Given the description of an element on the screen output the (x, y) to click on. 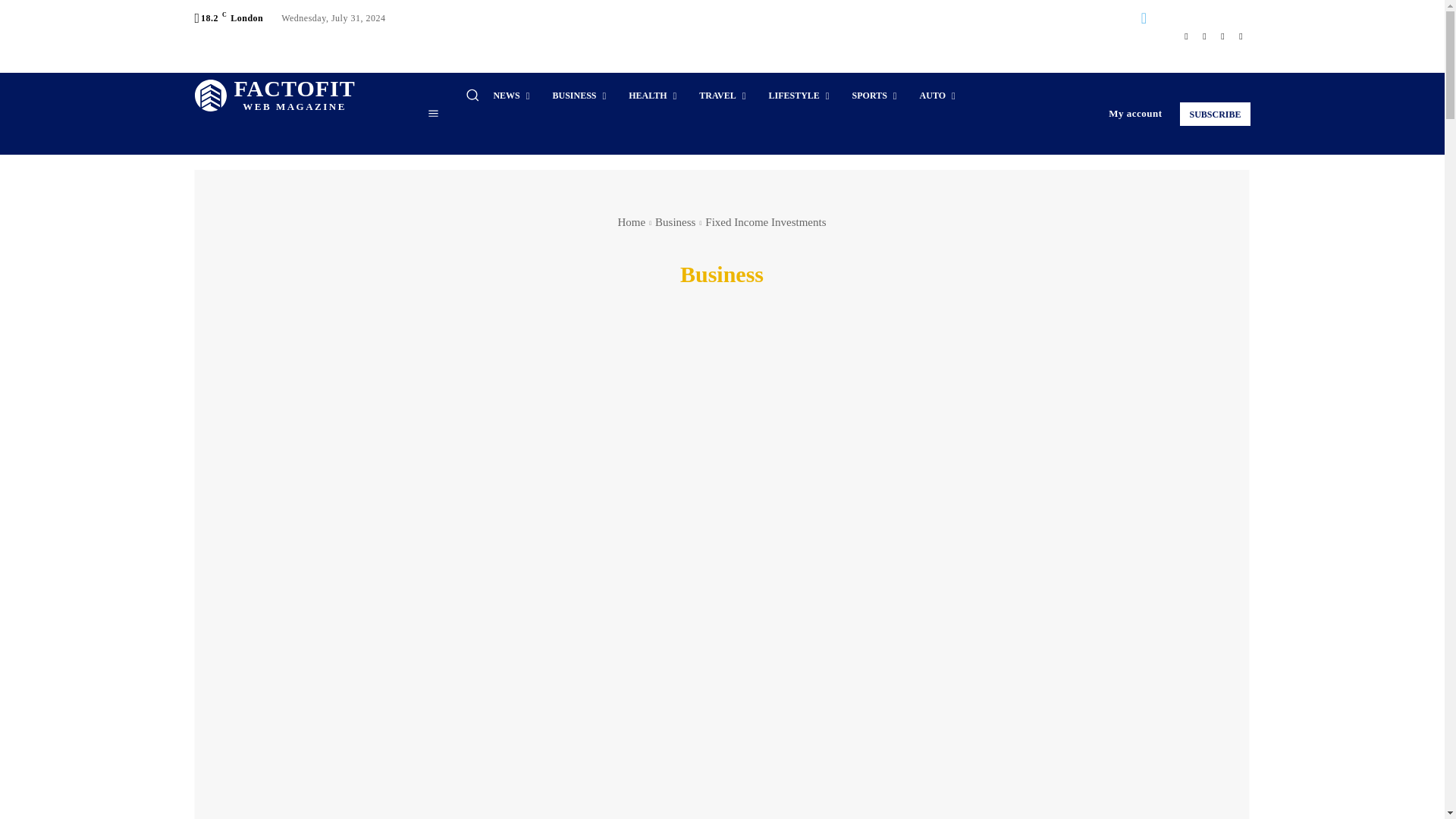
Facebook (1185, 36)
Instagram (1203, 36)
Youtube (1240, 36)
Twitter (274, 95)
